Given the description of an element on the screen output the (x, y) to click on. 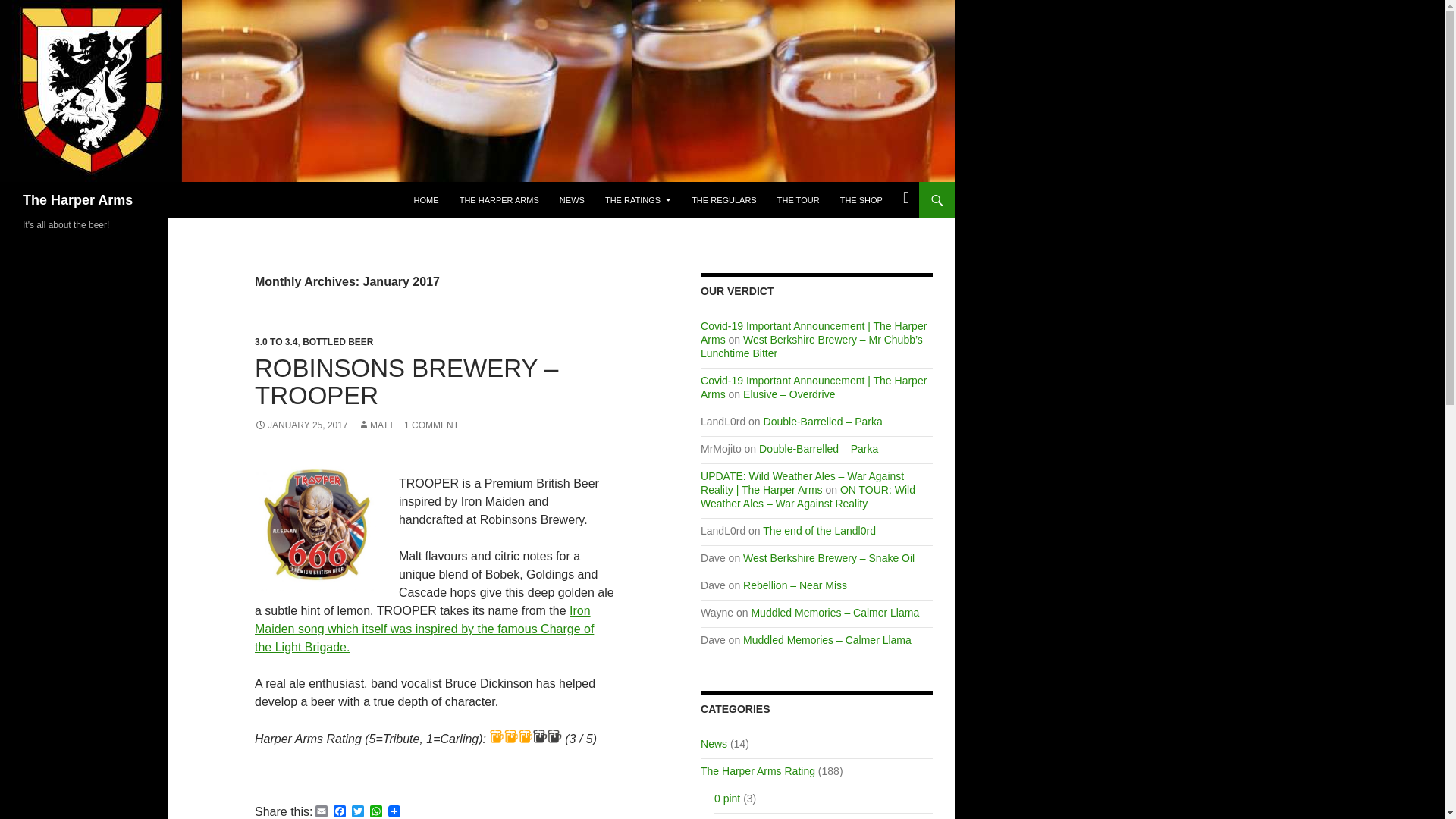
WhatsApp (375, 812)
BOTTLED BEER (337, 341)
Email (321, 812)
THE TOUR (798, 199)
HOME (426, 199)
Facebook (339, 812)
THE HARPER ARMS (498, 199)
JANUARY 25, 2017 (300, 425)
THE SHOP (861, 199)
